Given the description of an element on the screen output the (x, y) to click on. 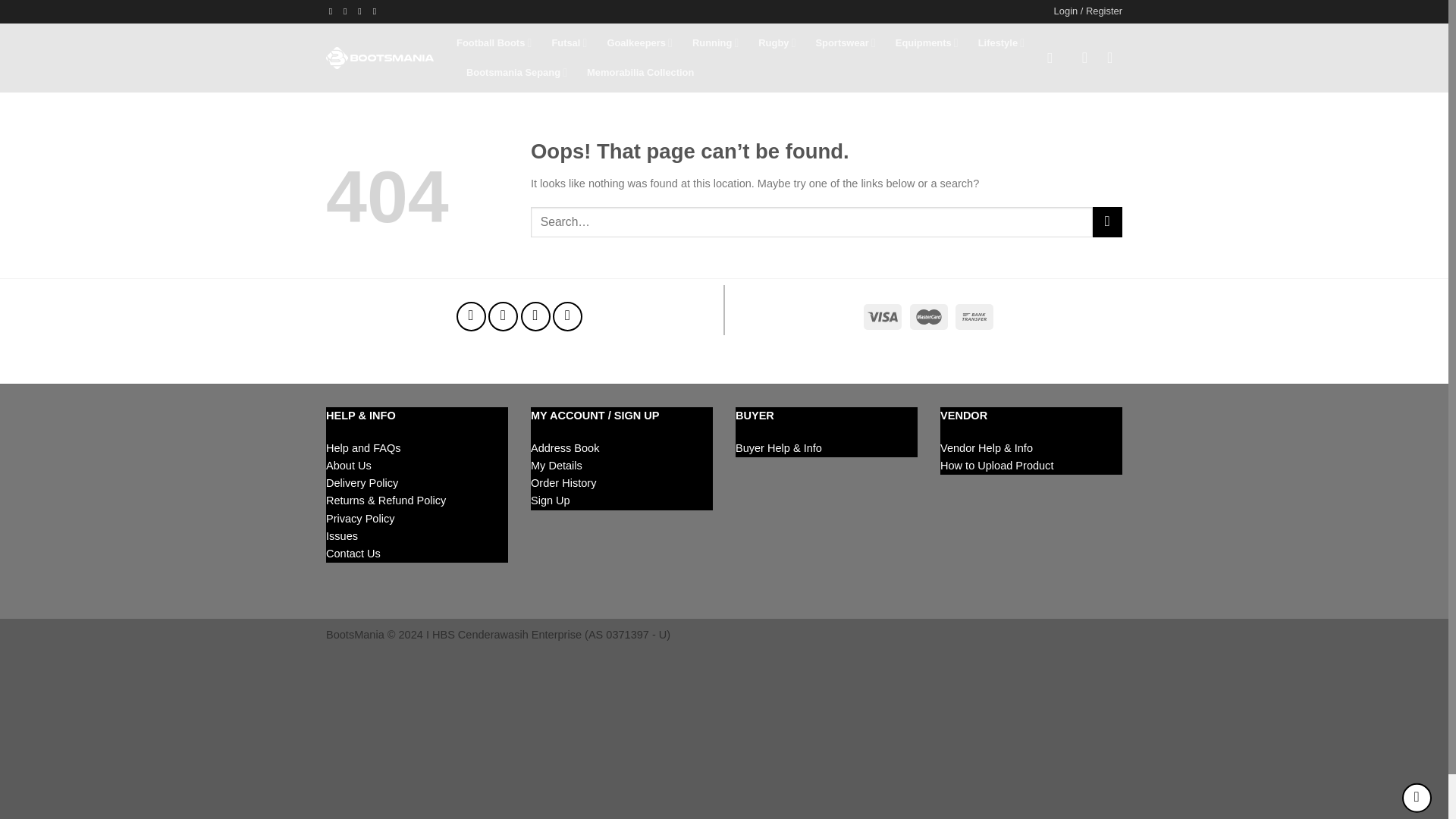
Football Boots (494, 42)
Follow on YouTube (567, 316)
Follow on Facebook (471, 316)
Follow on Instagram (502, 316)
Send us an email (535, 316)
